Given the description of an element on the screen output the (x, y) to click on. 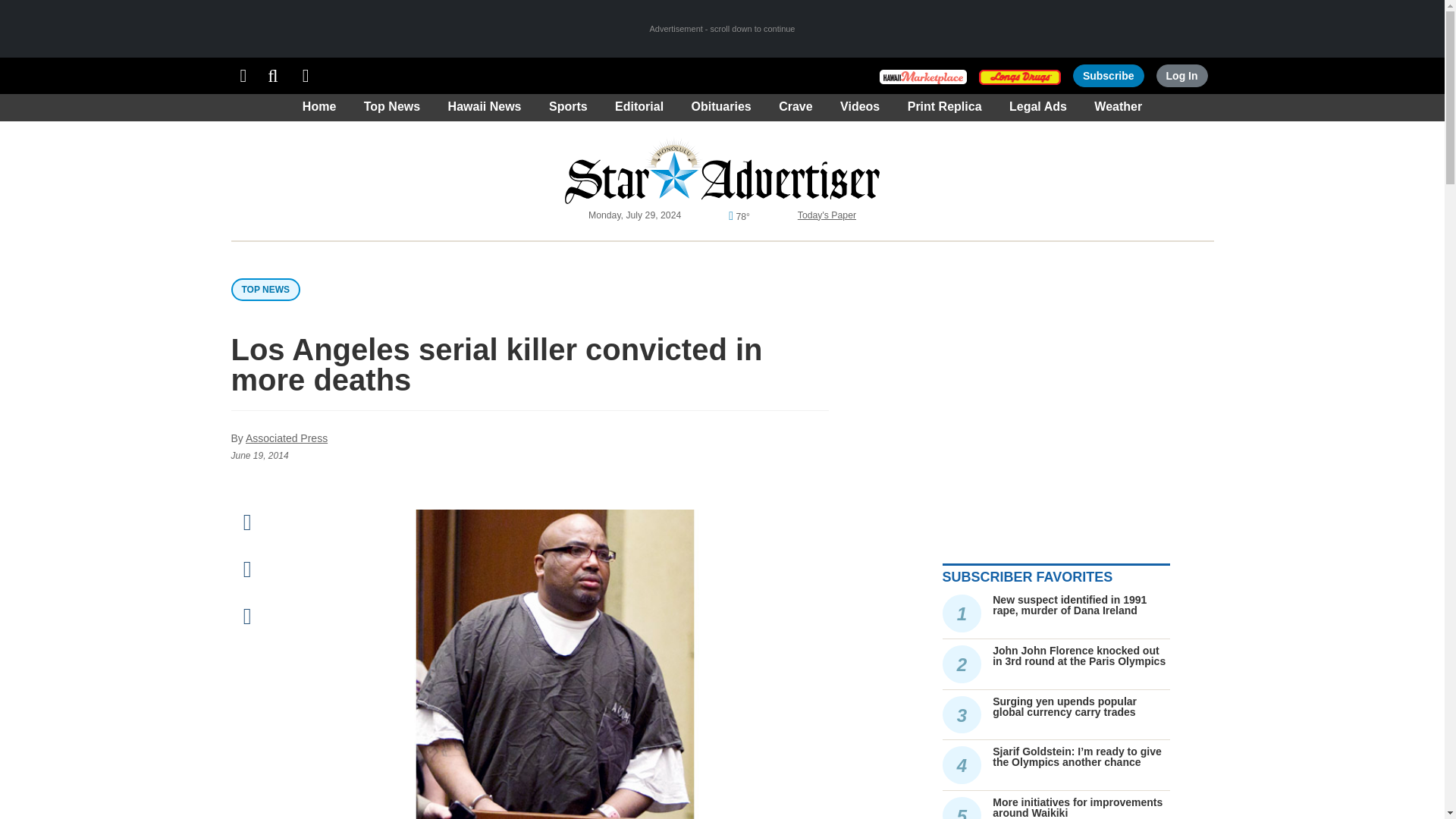
Print Replica (306, 75)
Subscribe (1108, 75)
Honolulu Star-Advertiser (721, 169)
Surging yen upends popular global currency carry trades (1064, 706)
Search (272, 75)
Sections (243, 75)
Log In (1182, 75)
New suspect identified in 1991 rape, murder of Dana Ireland (1069, 604)
See more stories by Associated Press (286, 438)
